Given the description of an element on the screen output the (x, y) to click on. 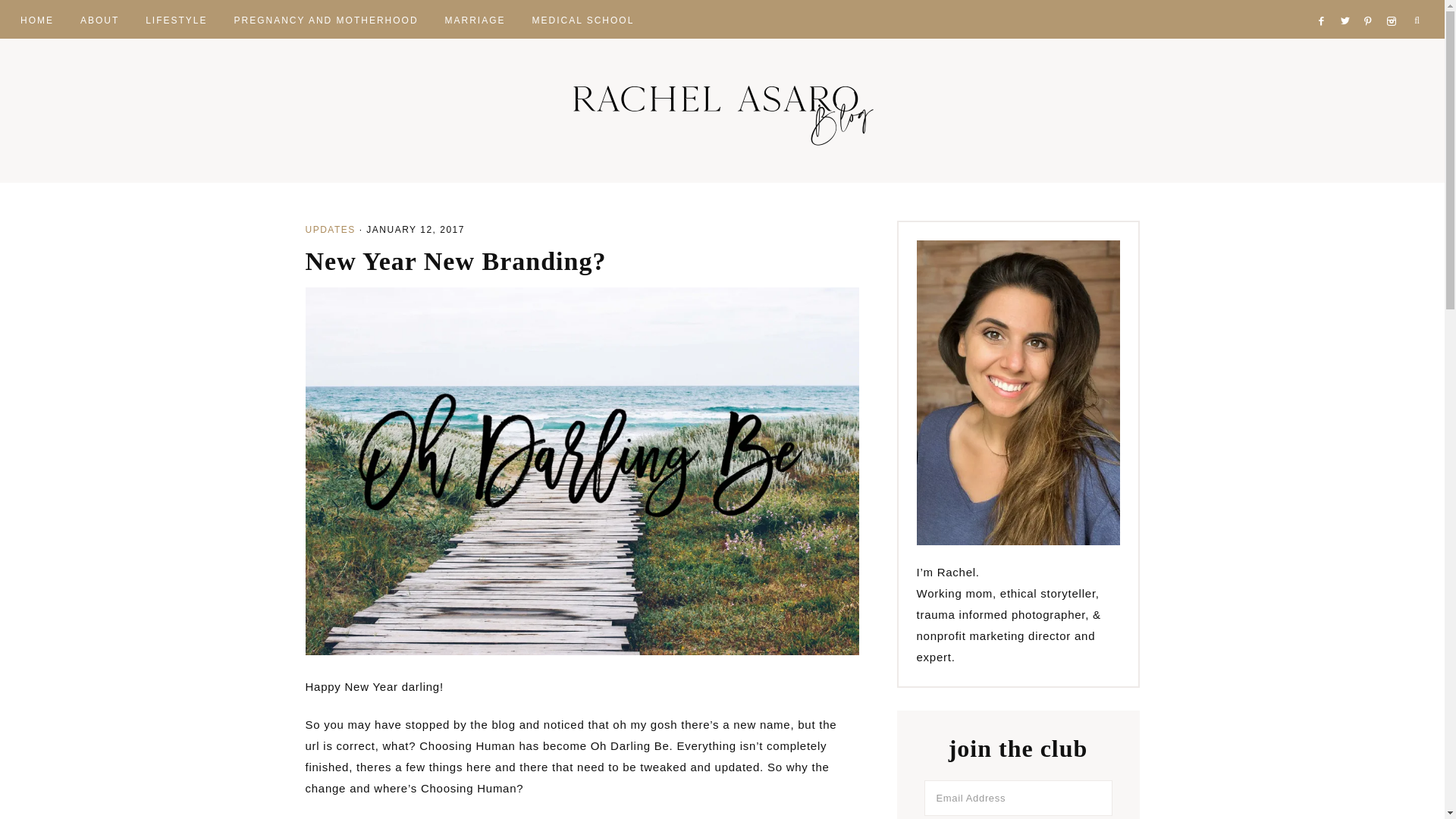
Pinterest (1371, 3)
Twitter (1348, 3)
MARRIAGE (474, 18)
UPDATES (329, 229)
MEDICAL SCHOOL (582, 18)
Rachel Asaro Blog (721, 110)
ABOUT (99, 18)
HOME (36, 18)
PREGNANCY AND MOTHERHOOD (325, 18)
LIFESTYLE (175, 18)
Instagram (1393, 3)
Facebook (1324, 3)
